Given the description of an element on the screen output the (x, y) to click on. 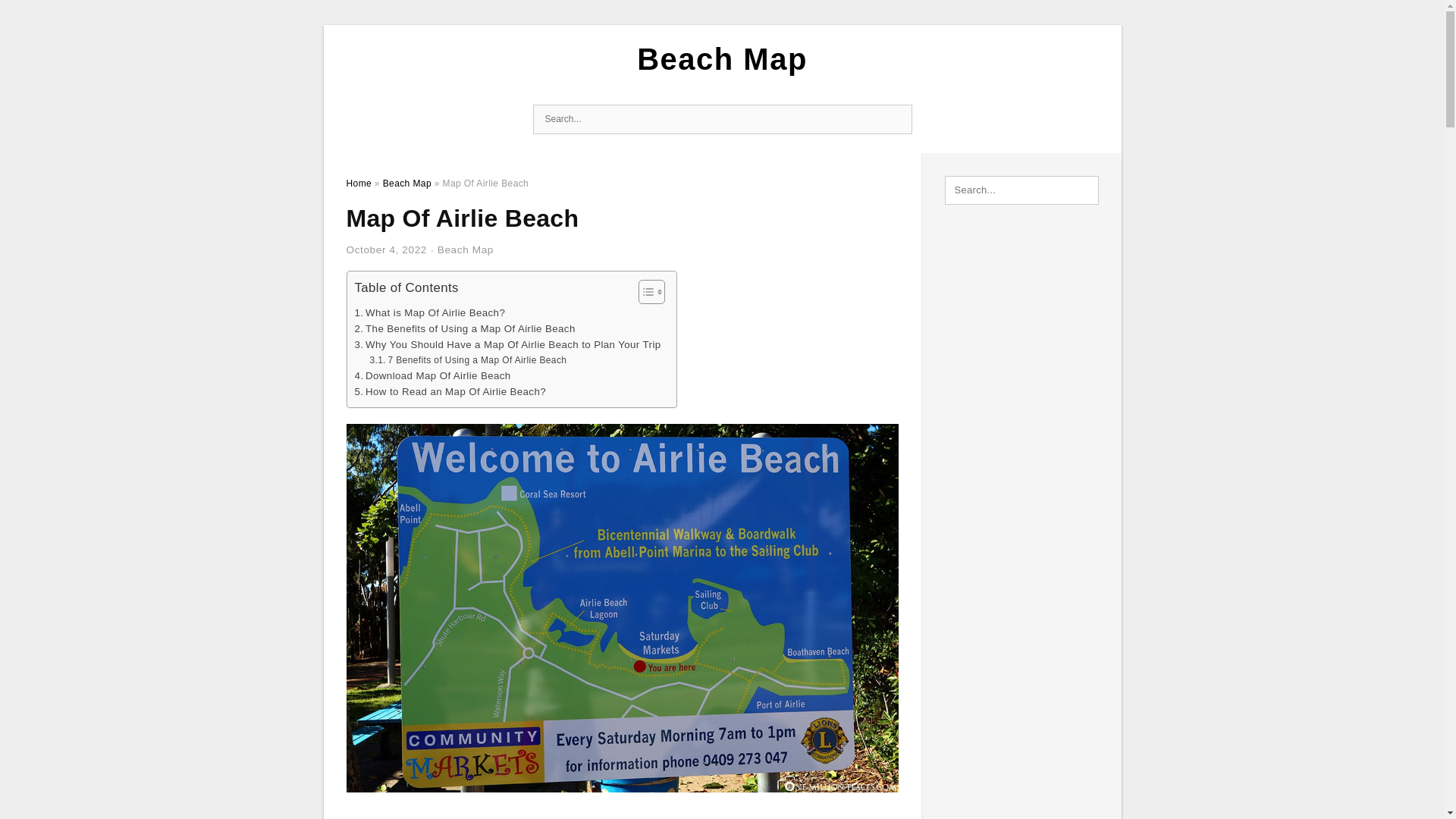
What is Map Of Airlie Beach? (430, 312)
Search (895, 119)
The Benefits of Using a Map Of Airlie Beach (465, 328)
7 Benefits of Using a Map Of Airlie Beach (467, 359)
Why You Should Have a Map Of Airlie Beach to Plan Your Trip (508, 344)
Search (895, 119)
How to Read an Map Of Airlie Beach? (451, 391)
Why You Should Have a Map Of Airlie Beach to Plan Your Trip (508, 344)
Search (895, 119)
